Given the description of an element on the screen output the (x, y) to click on. 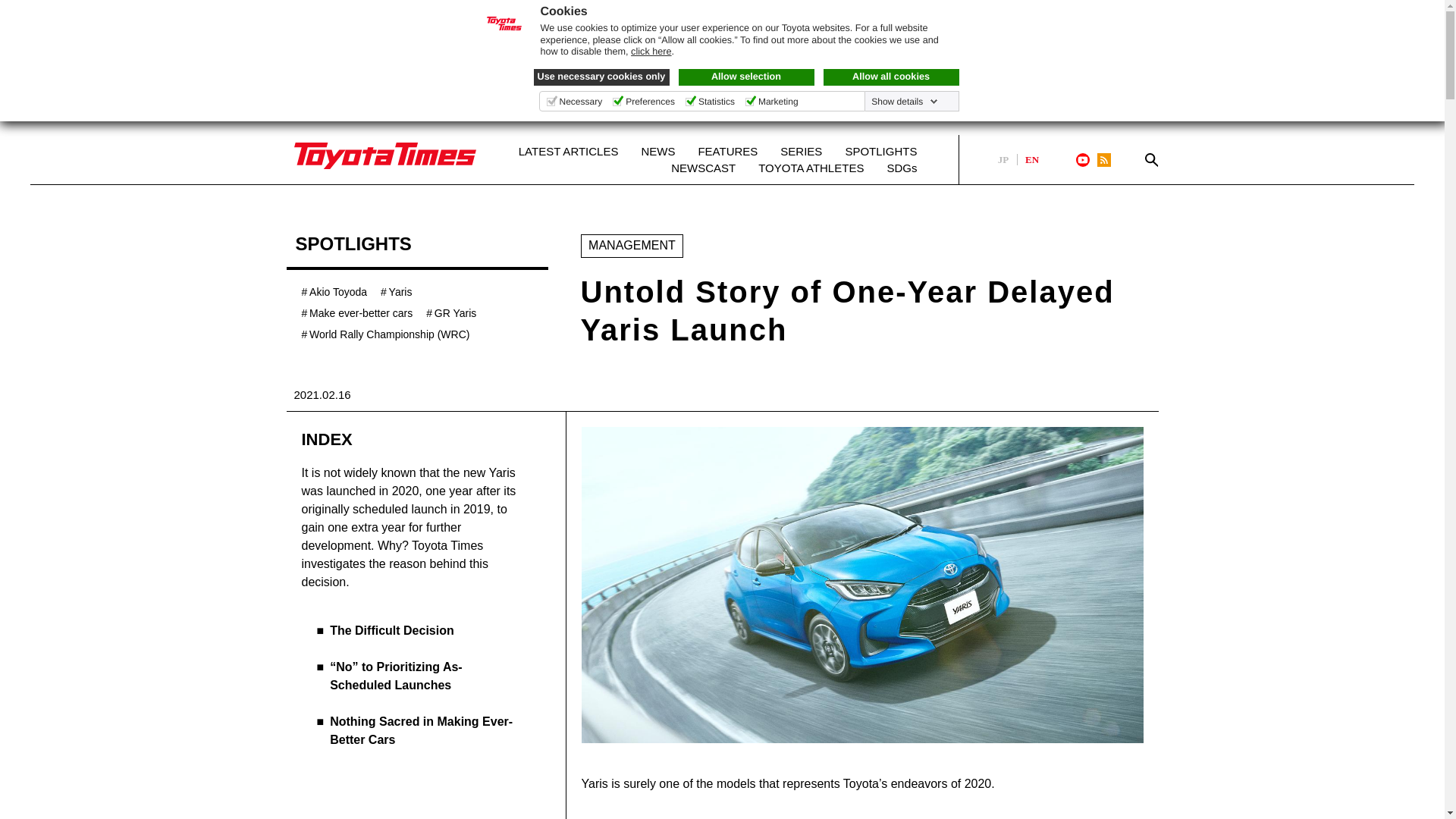
Allow all cookies (891, 76)
Show details (903, 101)
Use necessary cookies only (601, 76)
click here (650, 51)
Allow selection (745, 76)
